Given the description of an element on the screen output the (x, y) to click on. 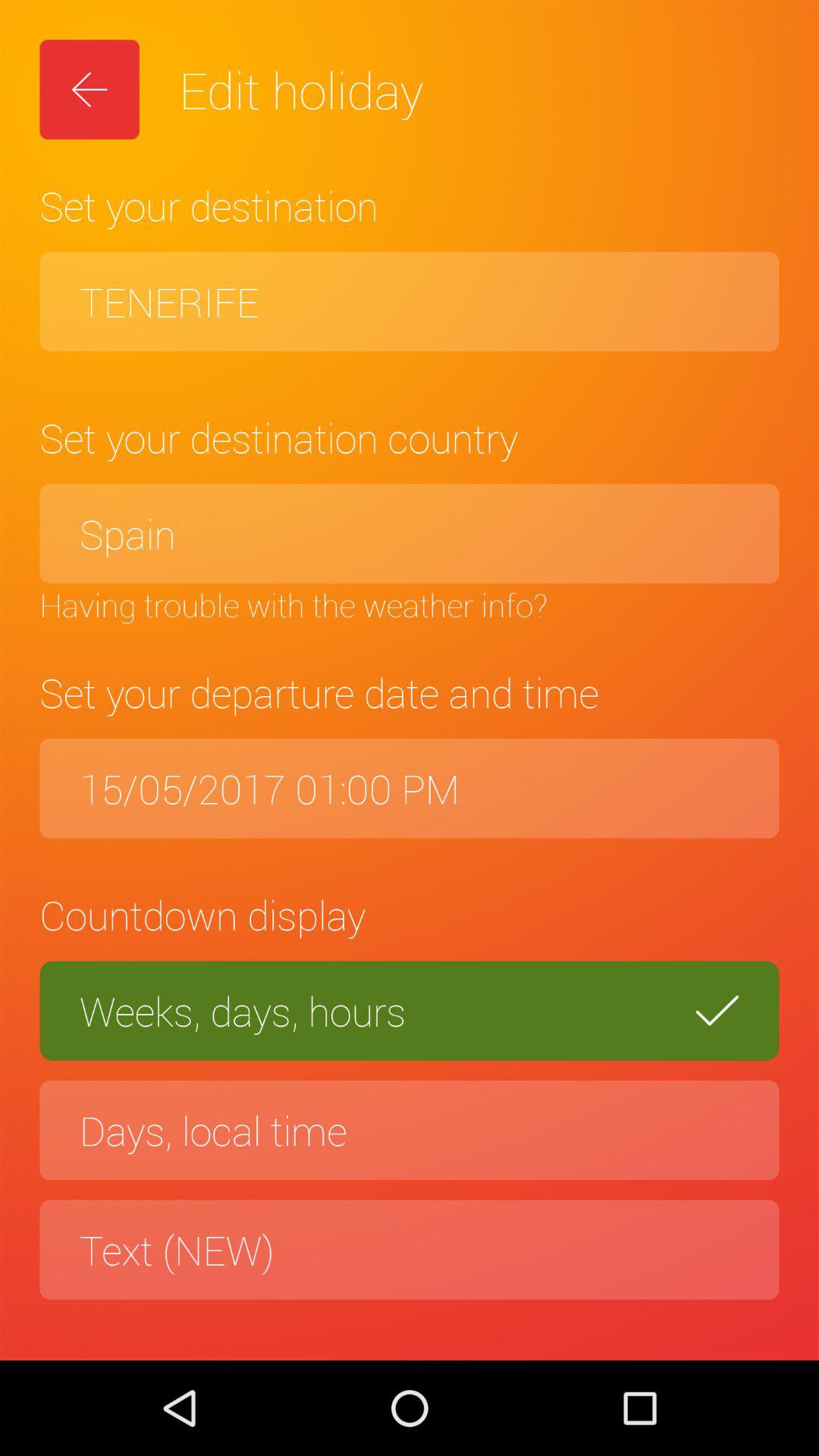
press the text (new) item (409, 1249)
